Given the description of an element on the screen output the (x, y) to click on. 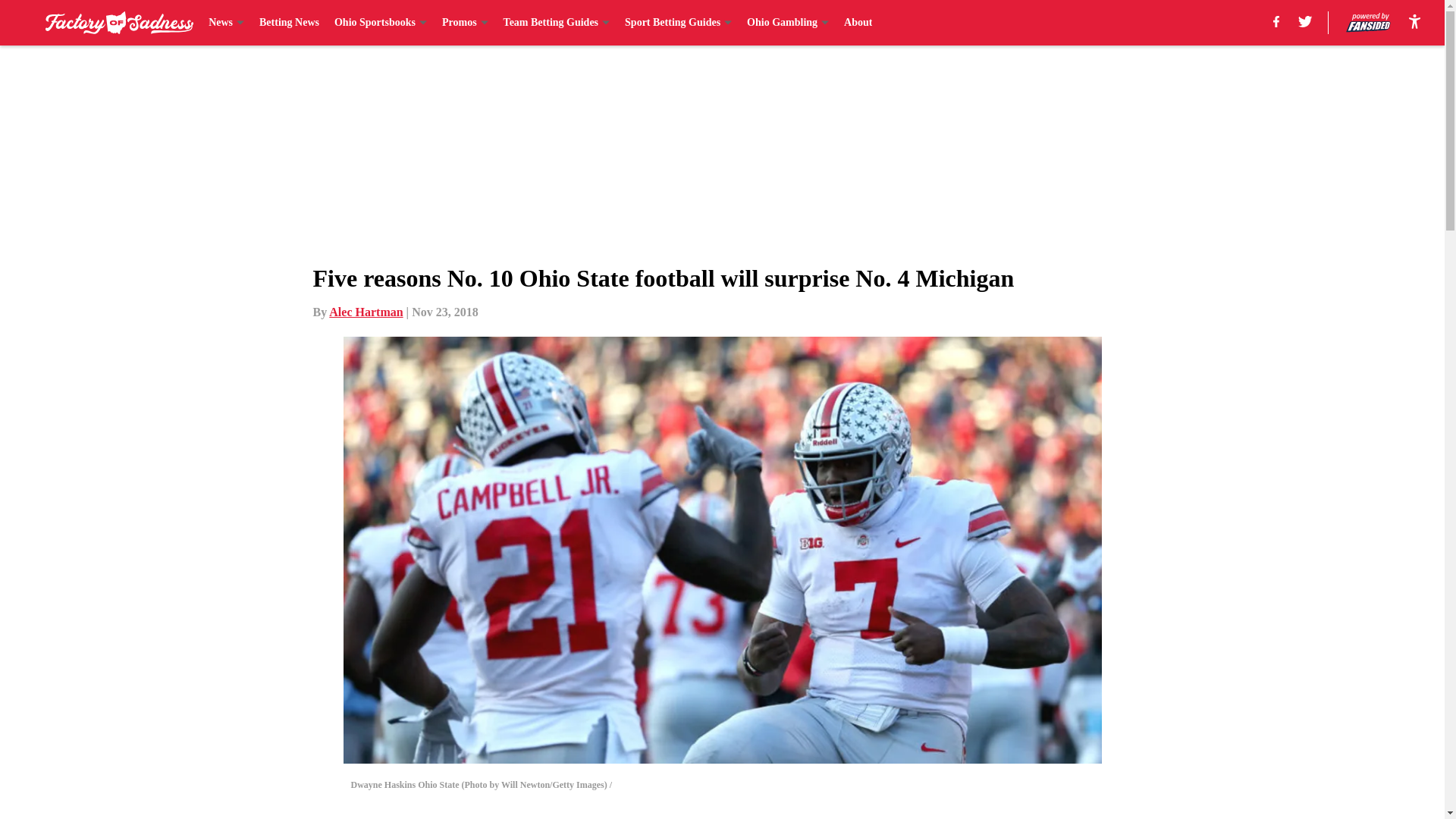
About (858, 22)
Betting News (288, 22)
Alec Hartman (366, 311)
